Given the description of an element on the screen output the (x, y) to click on. 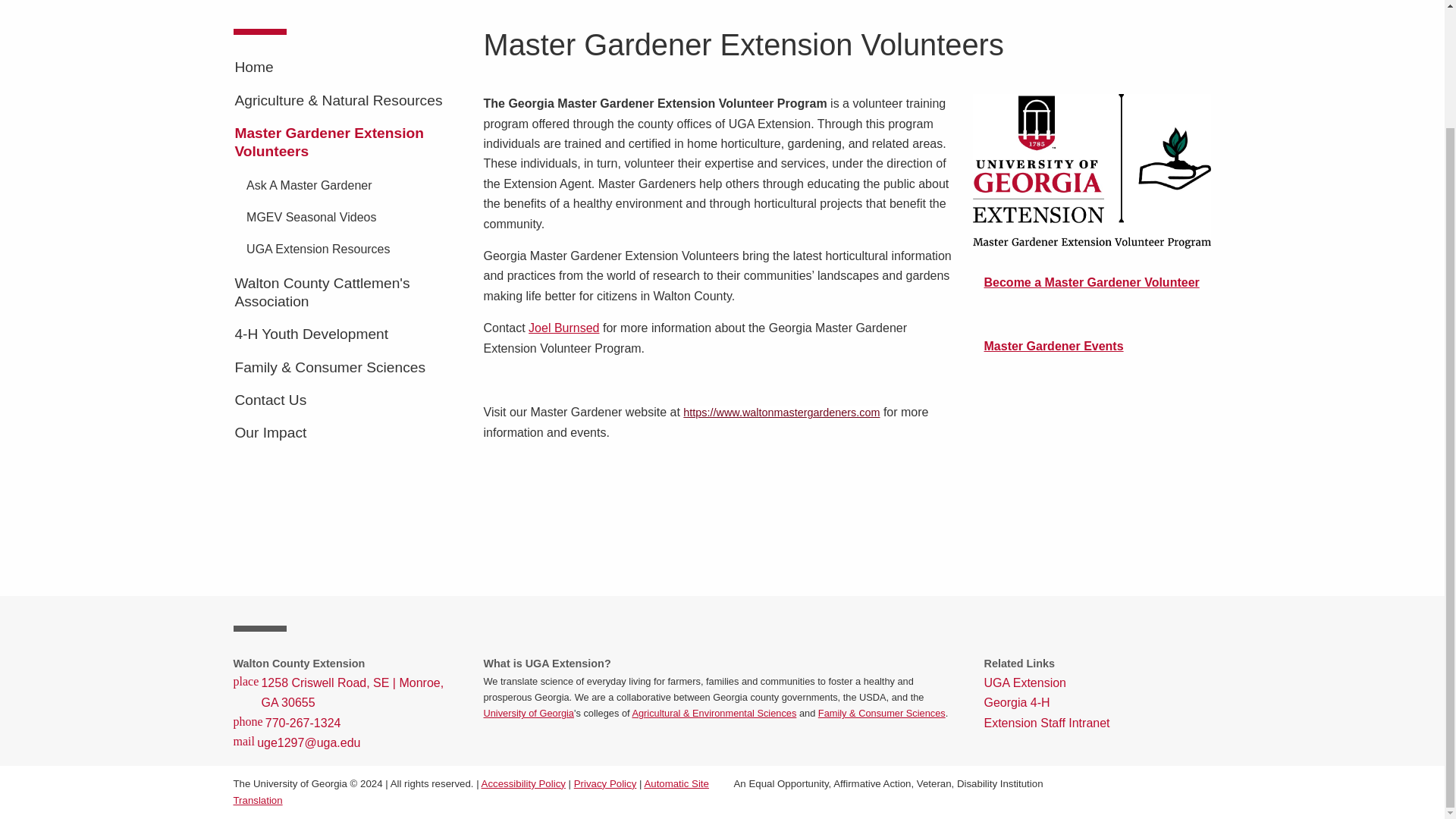
Home (346, 67)
Master Gardener Extension Volunteers (346, 142)
MGEV Seasonal Videos (353, 217)
Ask A Master Gardener (353, 185)
Joel Burnsed (563, 327)
UGA Extension and Master Gardener Logo (1091, 171)
Become a Master Gardener Volunteer (1091, 282)
Contact Us (346, 400)
Our Impact (346, 432)
mater gardener events page (1054, 345)
